Given the description of an element on the screen output the (x, y) to click on. 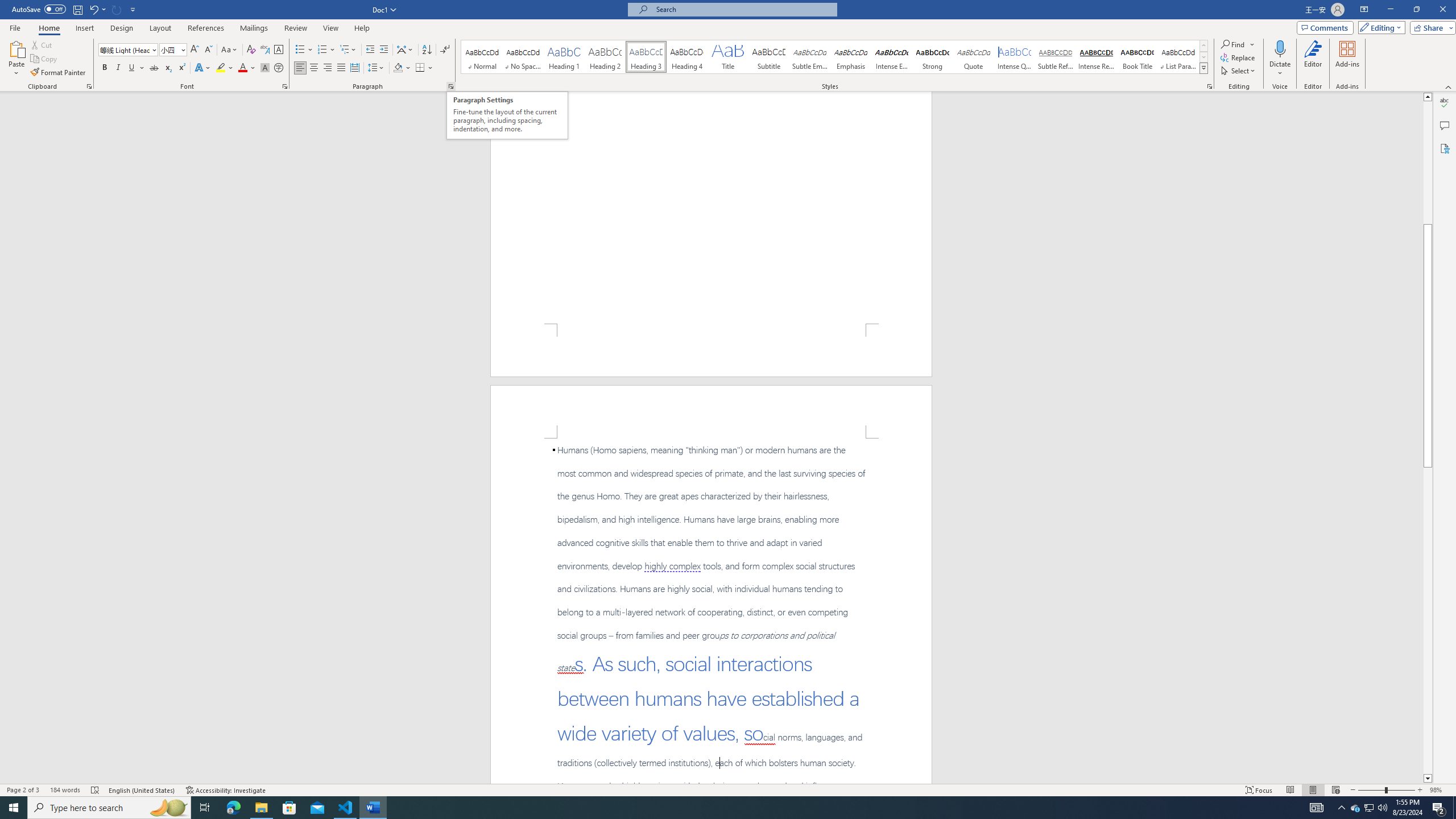
Character Border (278, 49)
Asian Layout (405, 49)
Page 1 content (710, 207)
Subtitle (768, 56)
Strikethrough (154, 67)
Quote (973, 56)
Row up (1203, 45)
Styles... (1209, 85)
Change Case (229, 49)
Shading (402, 67)
Heading 3 (646, 56)
